Given the description of an element on the screen output the (x, y) to click on. 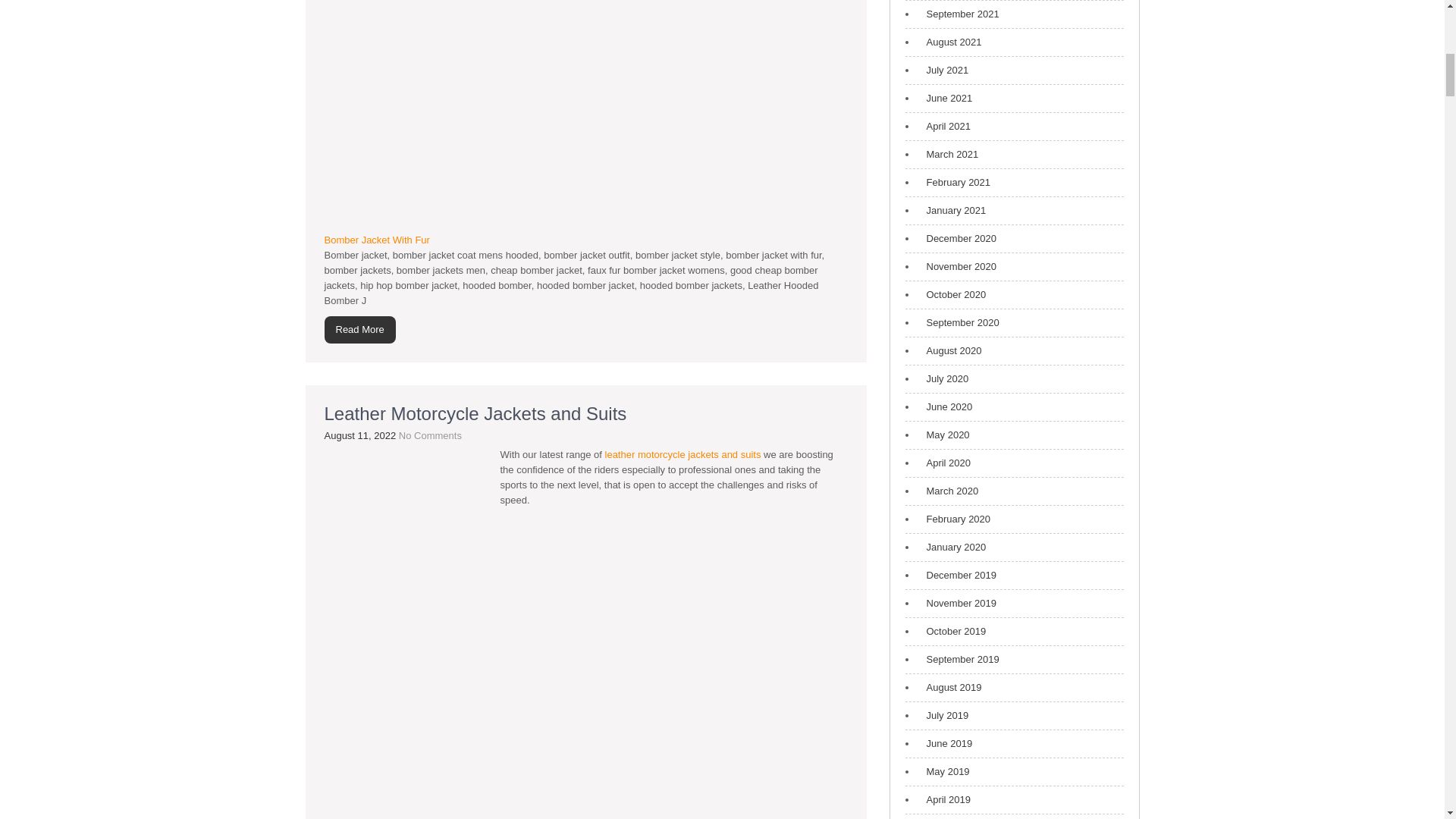
No Comments (429, 435)
leather motorcycle jackets and suits (683, 454)
Leather Motorcycle Jackets and Suits (475, 413)
Read More (360, 329)
Bomber Jacket With Fur (376, 239)
